Given the description of an element on the screen output the (x, y) to click on. 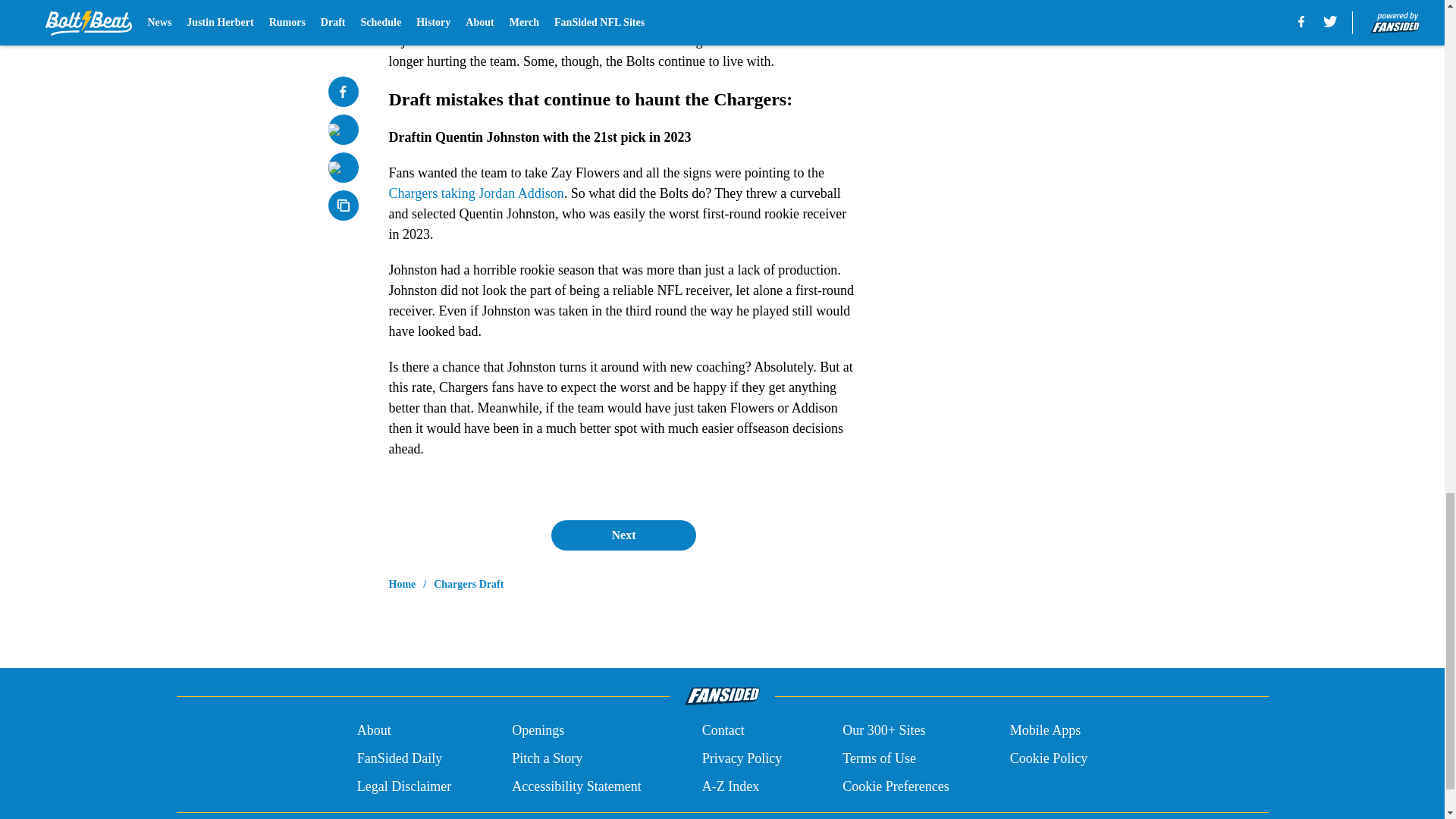
Terms of Use (879, 758)
Contact (722, 730)
About (373, 730)
Privacy Policy (742, 758)
Chargers taking Jordan Addison (475, 192)
Pitch a Story (547, 758)
Cookie Policy (1048, 758)
Mobile Apps (1045, 730)
Chargers Draft (468, 584)
Home (401, 584)
